Given the description of an element on the screen output the (x, y) to click on. 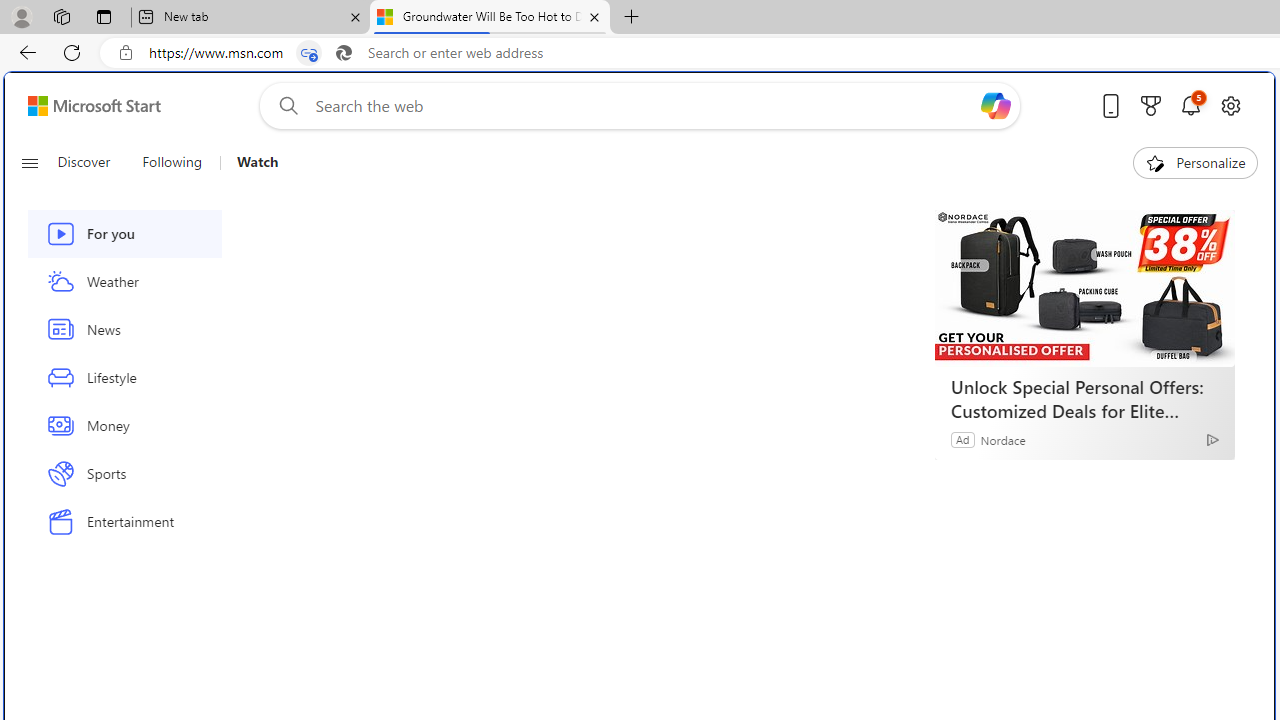
Class: button-glyph (29, 162)
Skip to content (86, 105)
Open navigation menu (29, 162)
Tabs in split screen (308, 53)
